Given the description of an element on the screen output the (x, y) to click on. 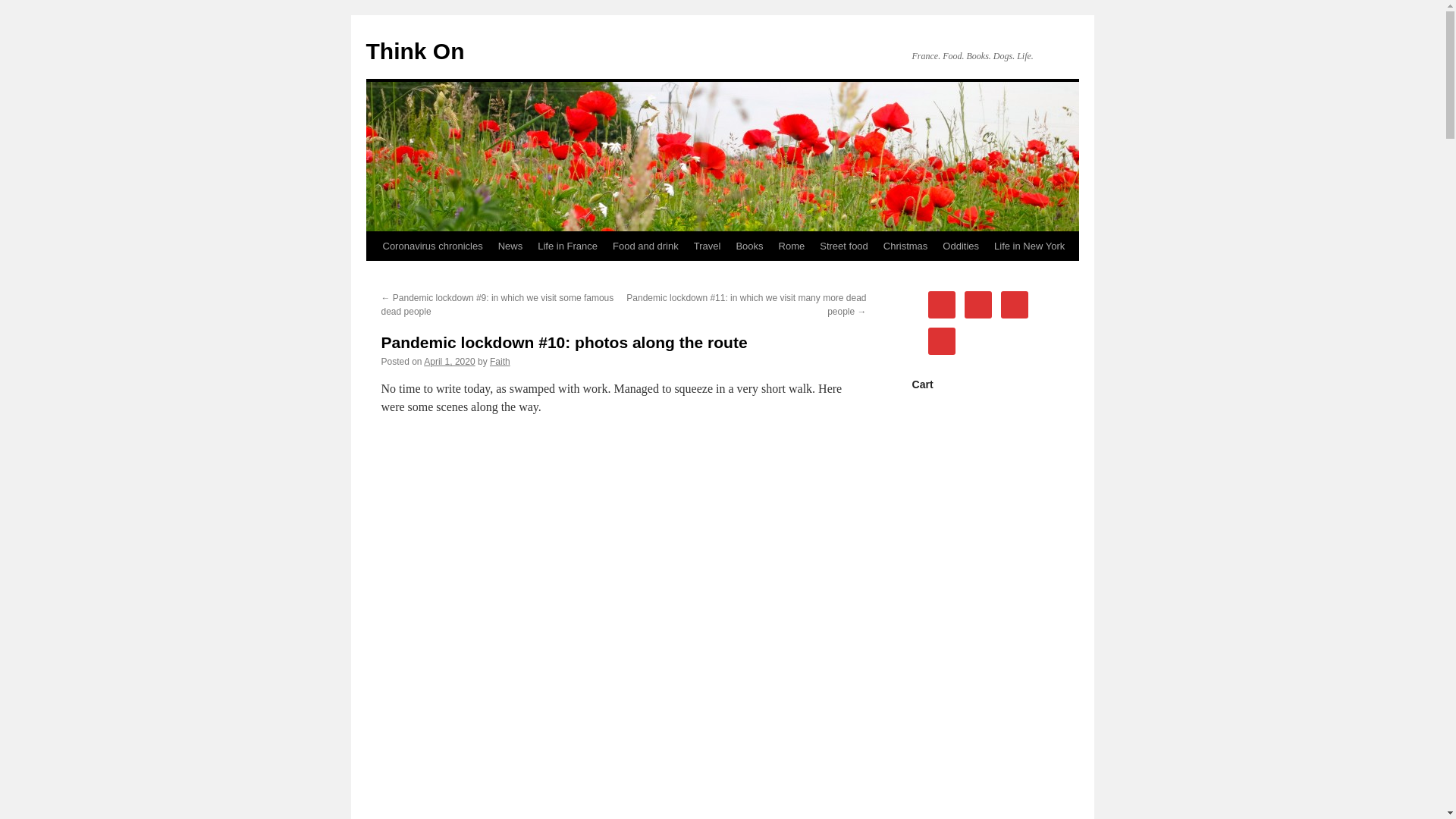
Think On (414, 50)
April 1, 2020 (448, 361)
Life in France (567, 246)
Oddities (960, 246)
Faith (500, 361)
Travel (707, 246)
Life in New York (1029, 246)
Books (749, 246)
News (510, 246)
Think On (414, 50)
